Given the description of an element on the screen output the (x, y) to click on. 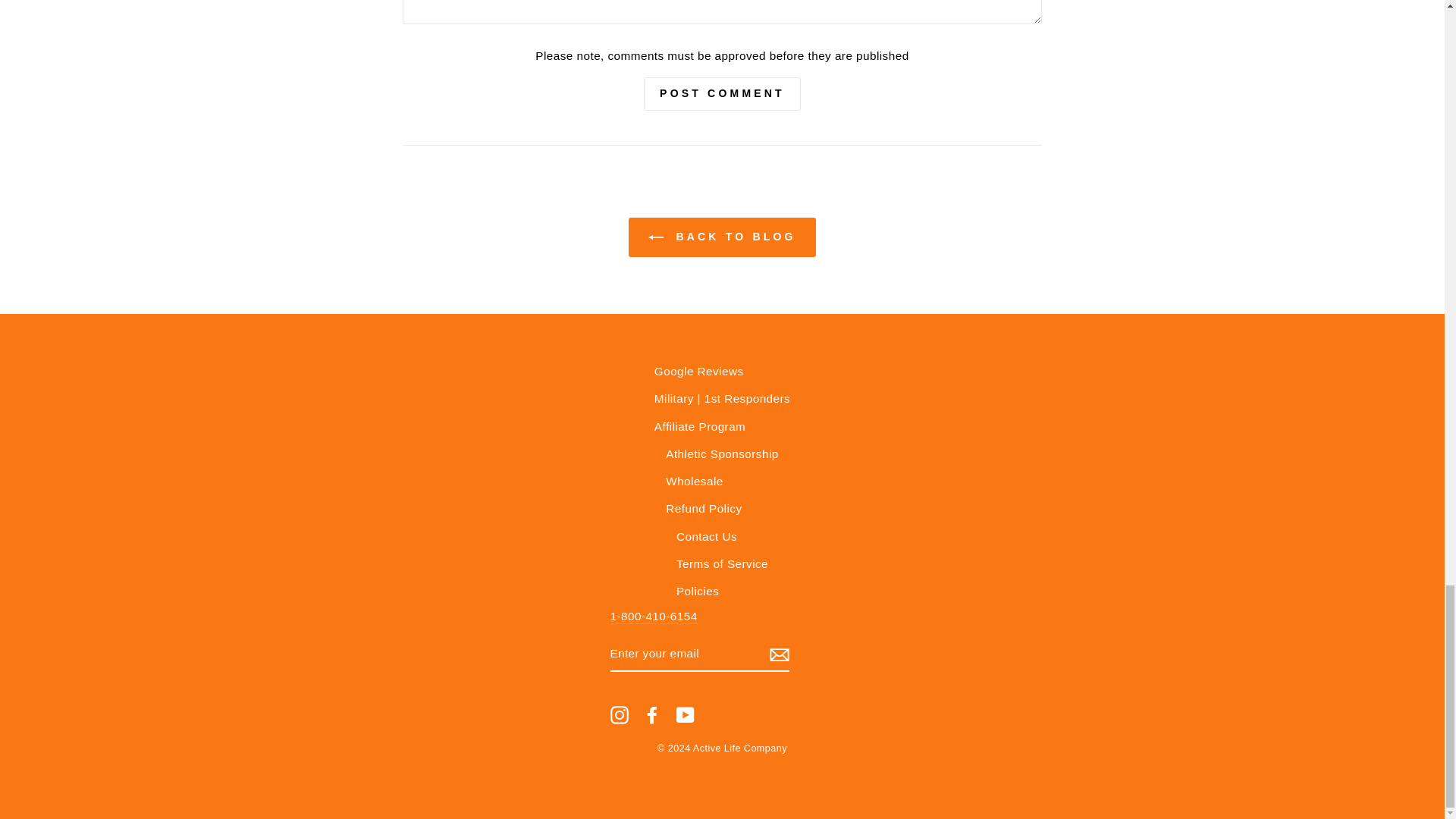
Active Life Company on YouTube (685, 714)
Active Life Company on Facebook (652, 714)
Active Life Company on Instagram (618, 714)
